Given the description of an element on the screen output the (x, y) to click on. 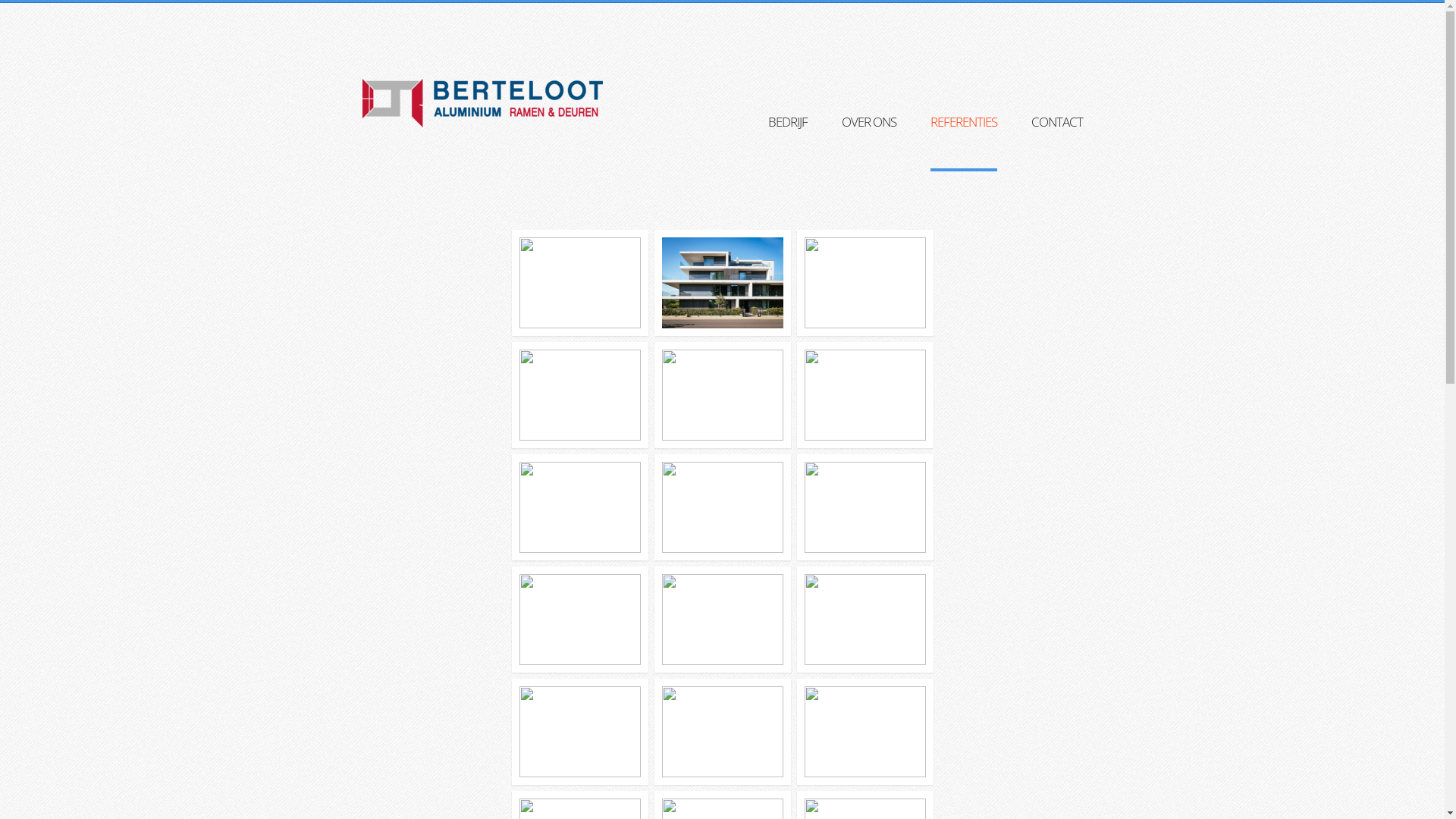
OVER ONS Element type: text (868, 140)
CONTACT Element type: text (1056, 140)
REFERENTIES Element type: text (962, 141)
BEDRIJF Element type: text (786, 140)
